Given the description of an element on the screen output the (x, y) to click on. 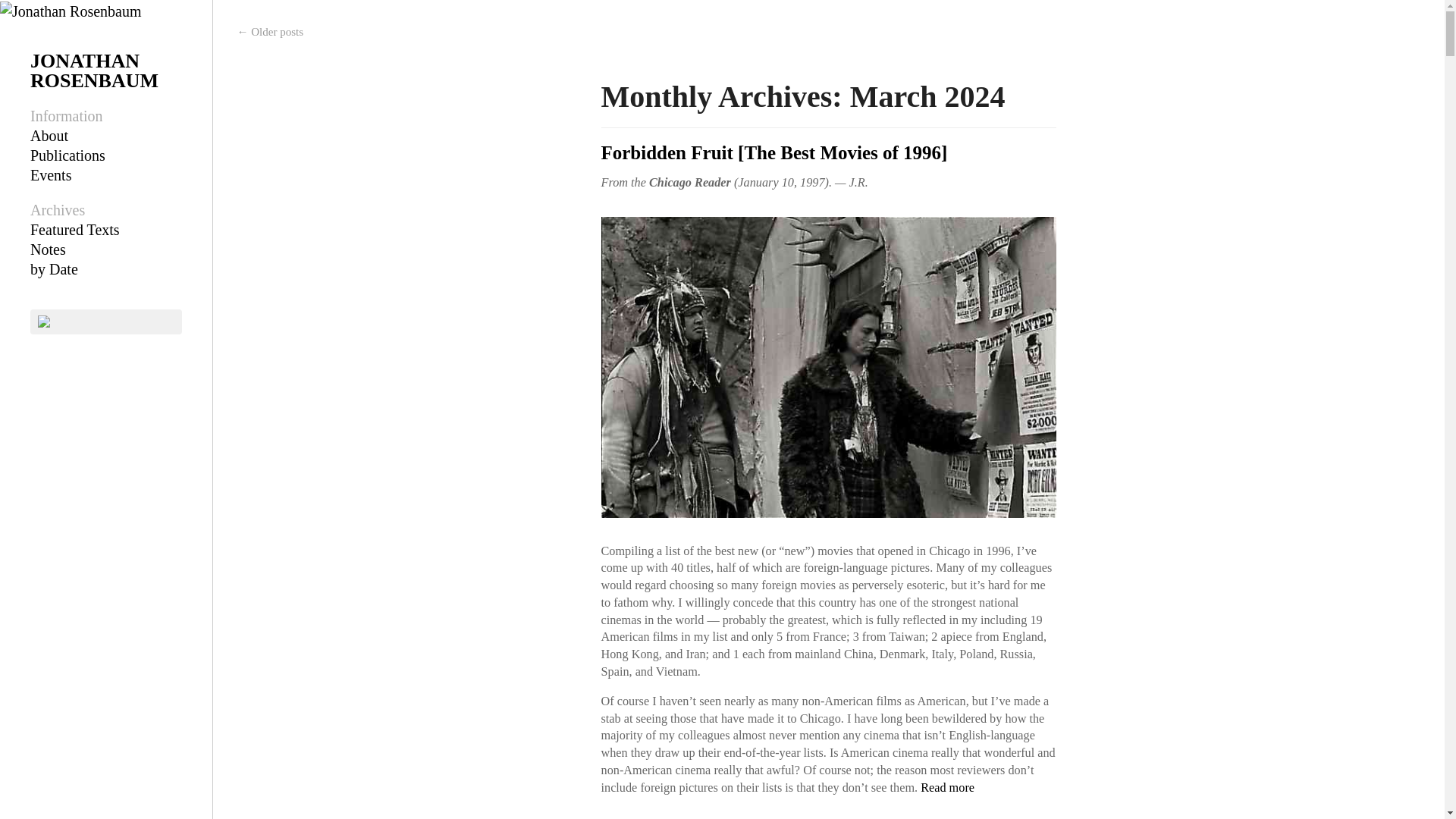
by Date (54, 269)
About (49, 135)
Search (29, 11)
Featured Texts (74, 229)
Events (50, 175)
Read more (947, 787)
Jonathan Rosenbaum (70, 9)
JONATHAN ROSENBAUM (94, 70)
Notes (47, 248)
